Given the description of an element on the screen output the (x, y) to click on. 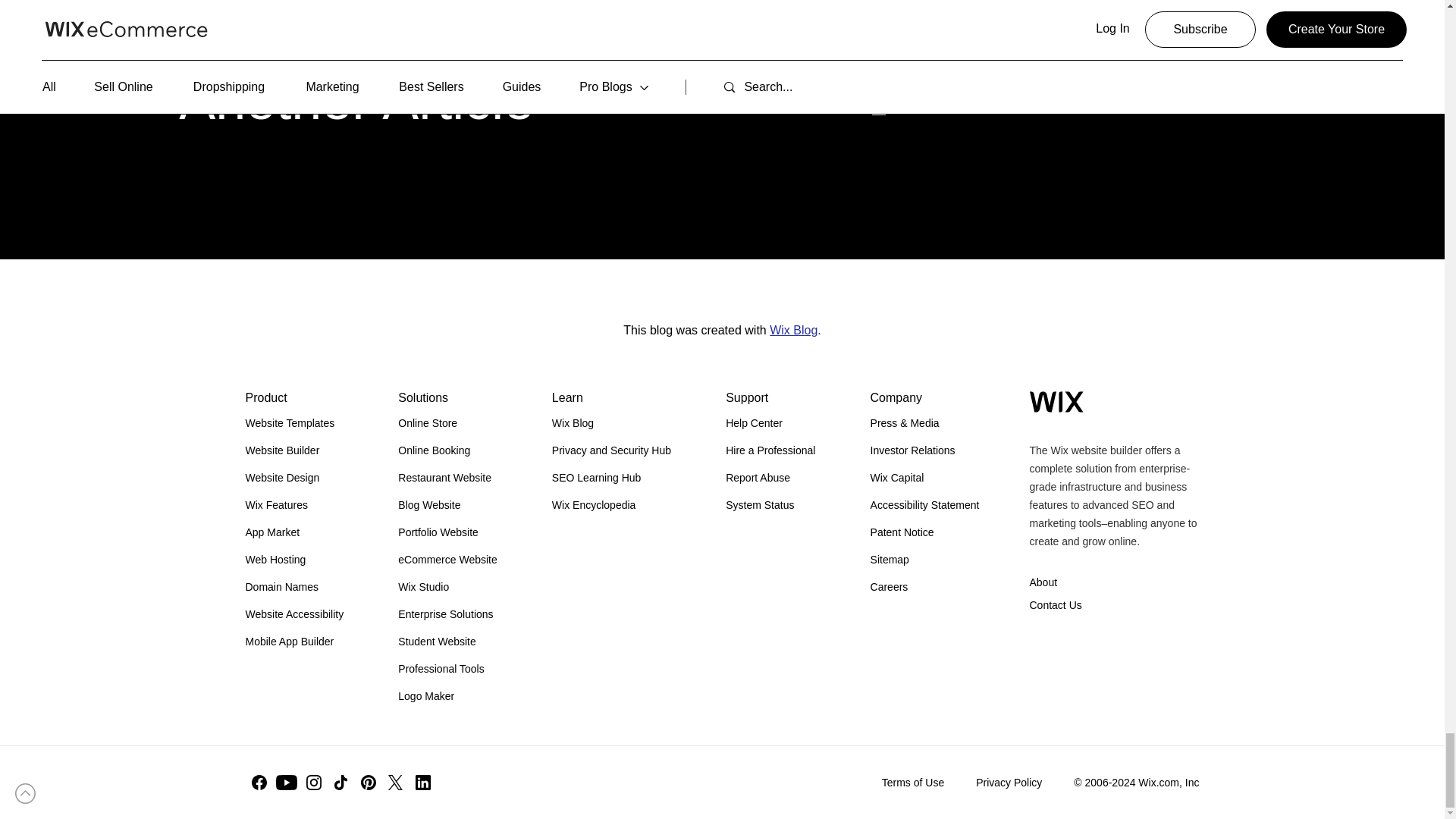
Pinterest (368, 782)
Twitter (395, 782)
TikTok (341, 782)
Instagram (313, 782)
Wix.com (1056, 401)
Facebook (259, 782)
Linkedin (422, 782)
Youtube (286, 782)
